Given the description of an element on the screen output the (x, y) to click on. 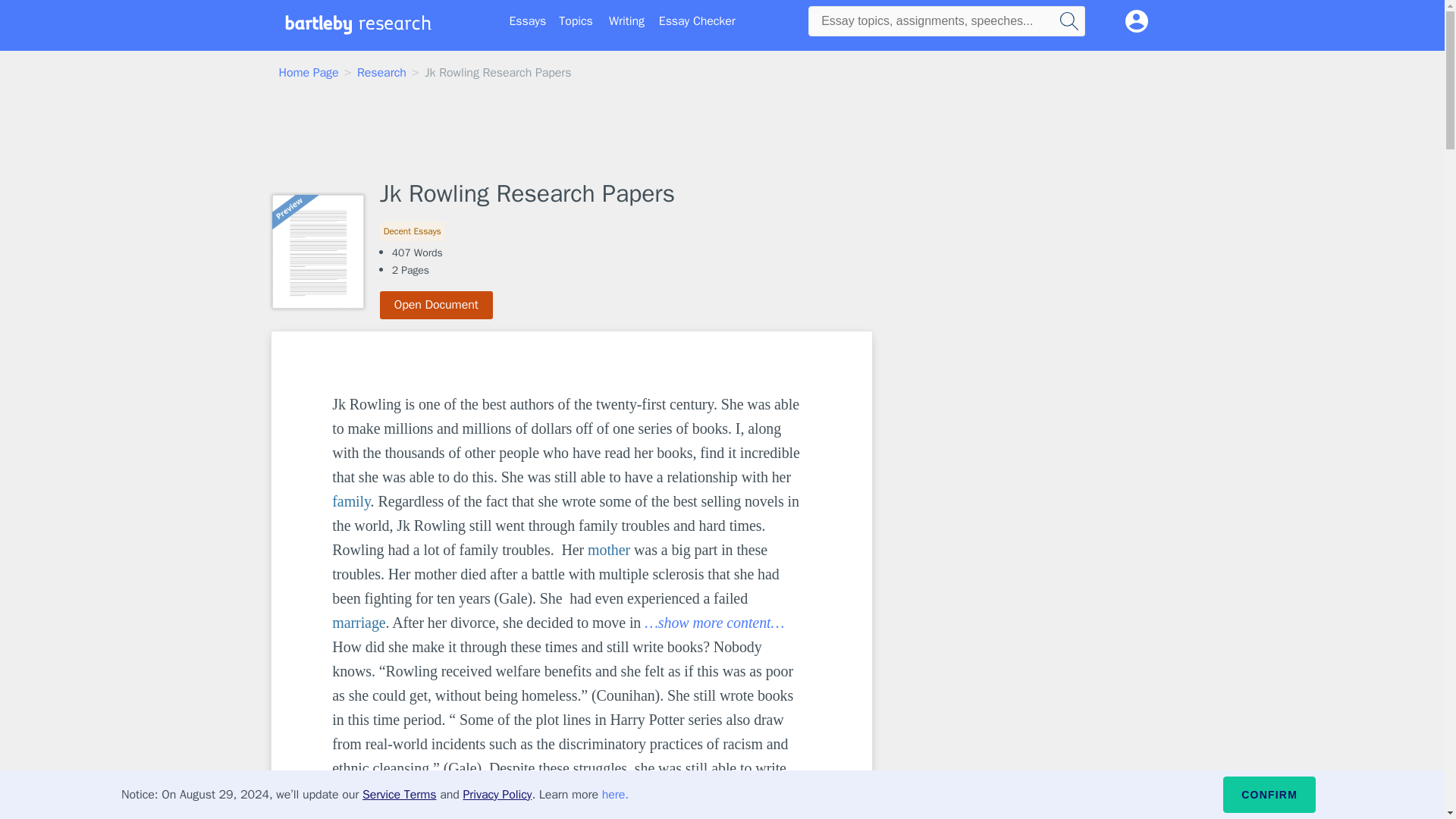
Essay Checker (697, 20)
Topics (575, 20)
Research (381, 72)
family (350, 501)
marriage (358, 622)
Writing (626, 20)
Open Document (436, 305)
mother (609, 549)
Home Page (309, 72)
Essays (528, 20)
